Given the description of an element on the screen output the (x, y) to click on. 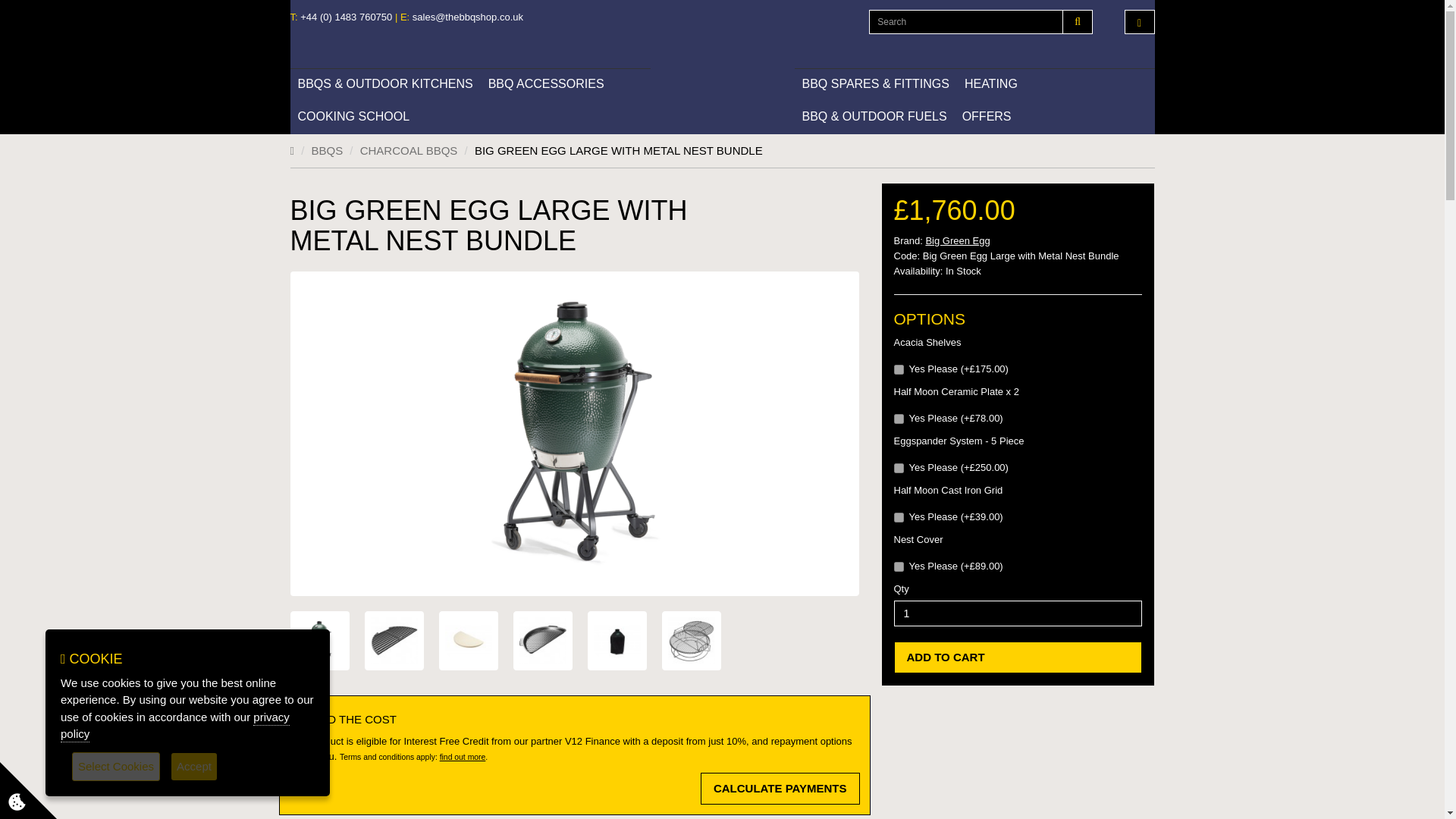
1 (1017, 613)
Big Green Egg Large with Metal Nest Bundle  (392, 640)
6451 (897, 369)
Big Green Egg Large with Metal Nest Bundle  (319, 640)
Big Green Egg Large with Metal Nest Bundle  (690, 640)
Big Green Egg Large with Metal Nest Bundle  (616, 640)
Big Green Egg Large with Metal Nest Bundle  (542, 640)
4348 (897, 566)
Big Green Egg Large with Metal Nest Bundle  (616, 640)
Big Green Egg Large with Metal Nest Bundle  (690, 640)
Big Green Egg Large with Metal Nest Bundle  (393, 640)
Big Green Egg Large with Metal Nest Bundle  (468, 640)
4360 (897, 468)
Big Green Egg Large with Metal Nest Bundle  (318, 640)
Big Green Egg Large with Metal Nest Bundle  (542, 640)
